Given the description of an element on the screen output the (x, y) to click on. 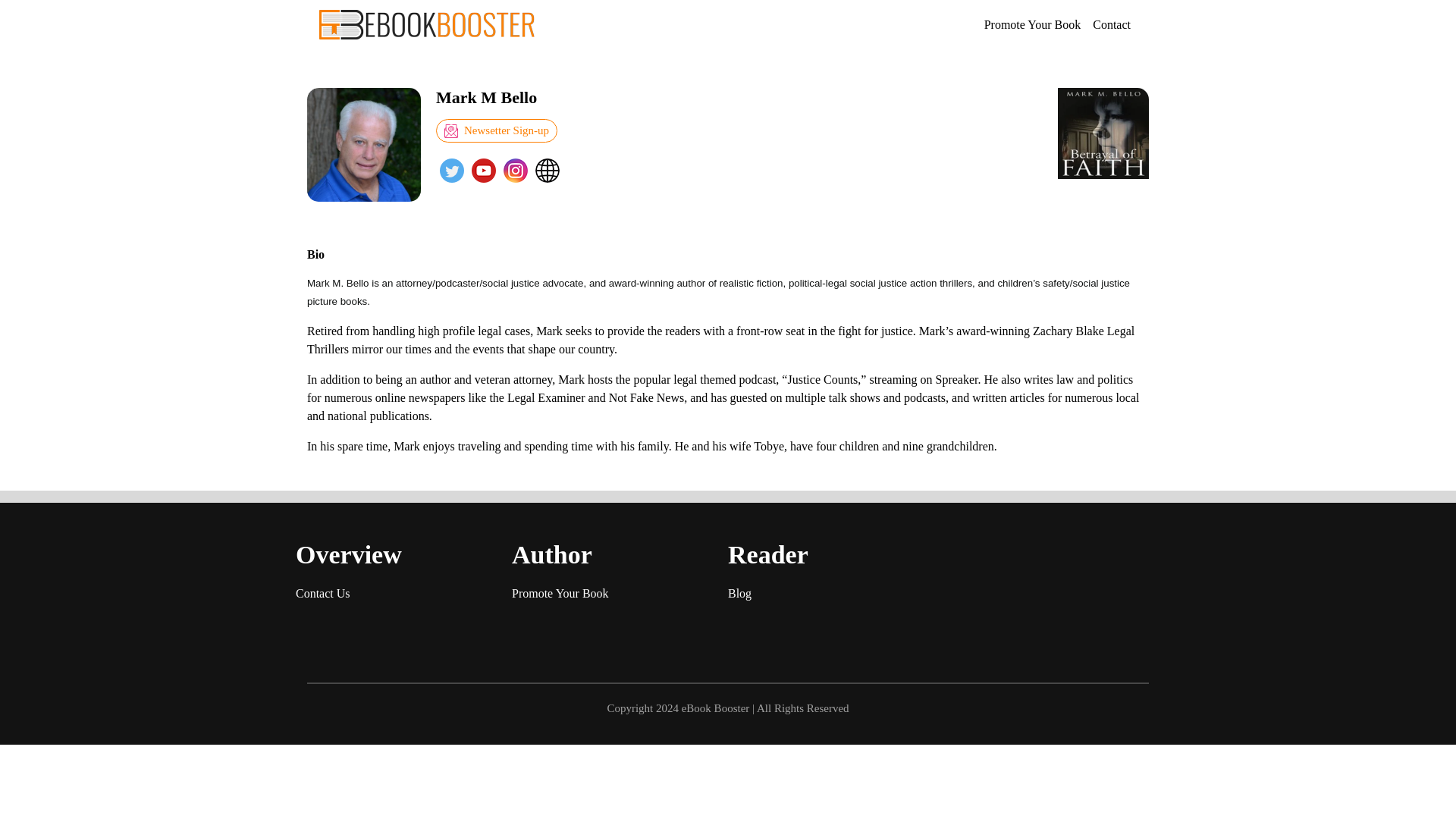
Promote Your Book (1032, 24)
Newsetter Sign-up (496, 130)
Promote Your Book (560, 593)
Contact Us (322, 593)
Contact (1111, 24)
Blog (739, 593)
